Given the description of an element on the screen output the (x, y) to click on. 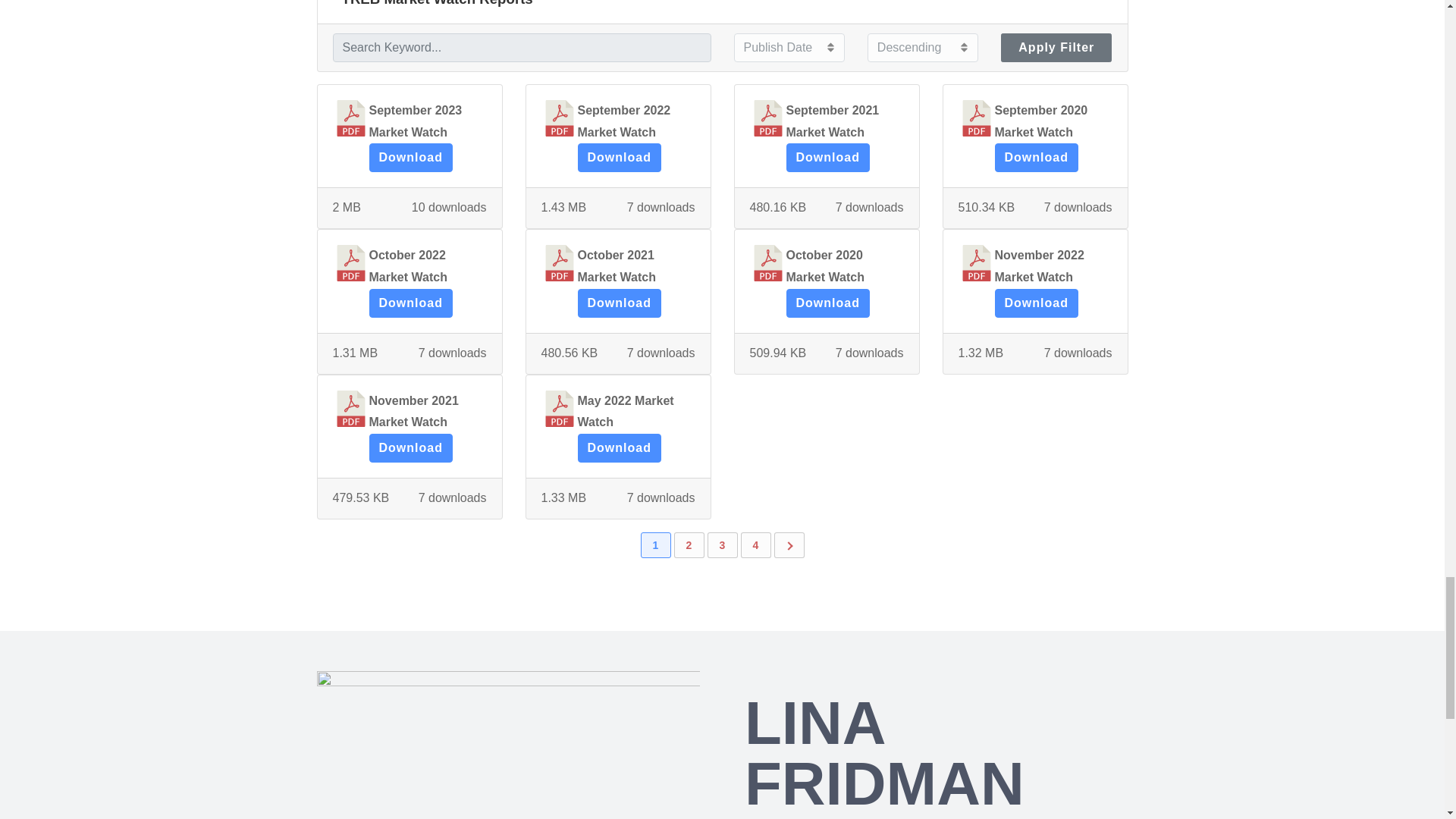
Download (409, 303)
Download (619, 157)
Download (827, 157)
Download (409, 157)
Download (827, 303)
Download (1036, 157)
Download (619, 303)
team (508, 744)
Apply Filter (1056, 47)
